Given the description of an element on the screen output the (x, y) to click on. 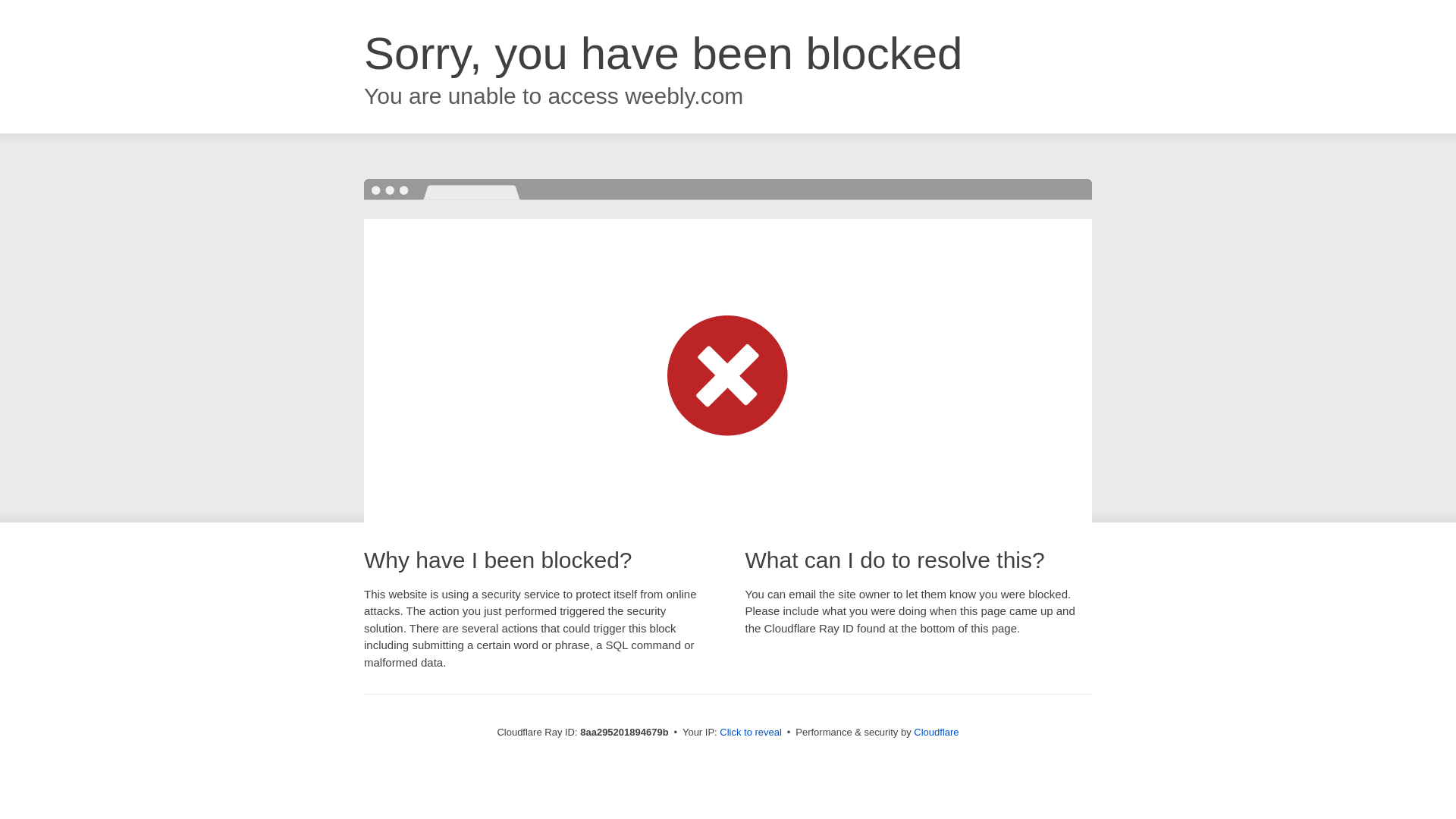
Cloudflare (936, 731)
Click to reveal (750, 732)
